Given the description of an element on the screen output the (x, y) to click on. 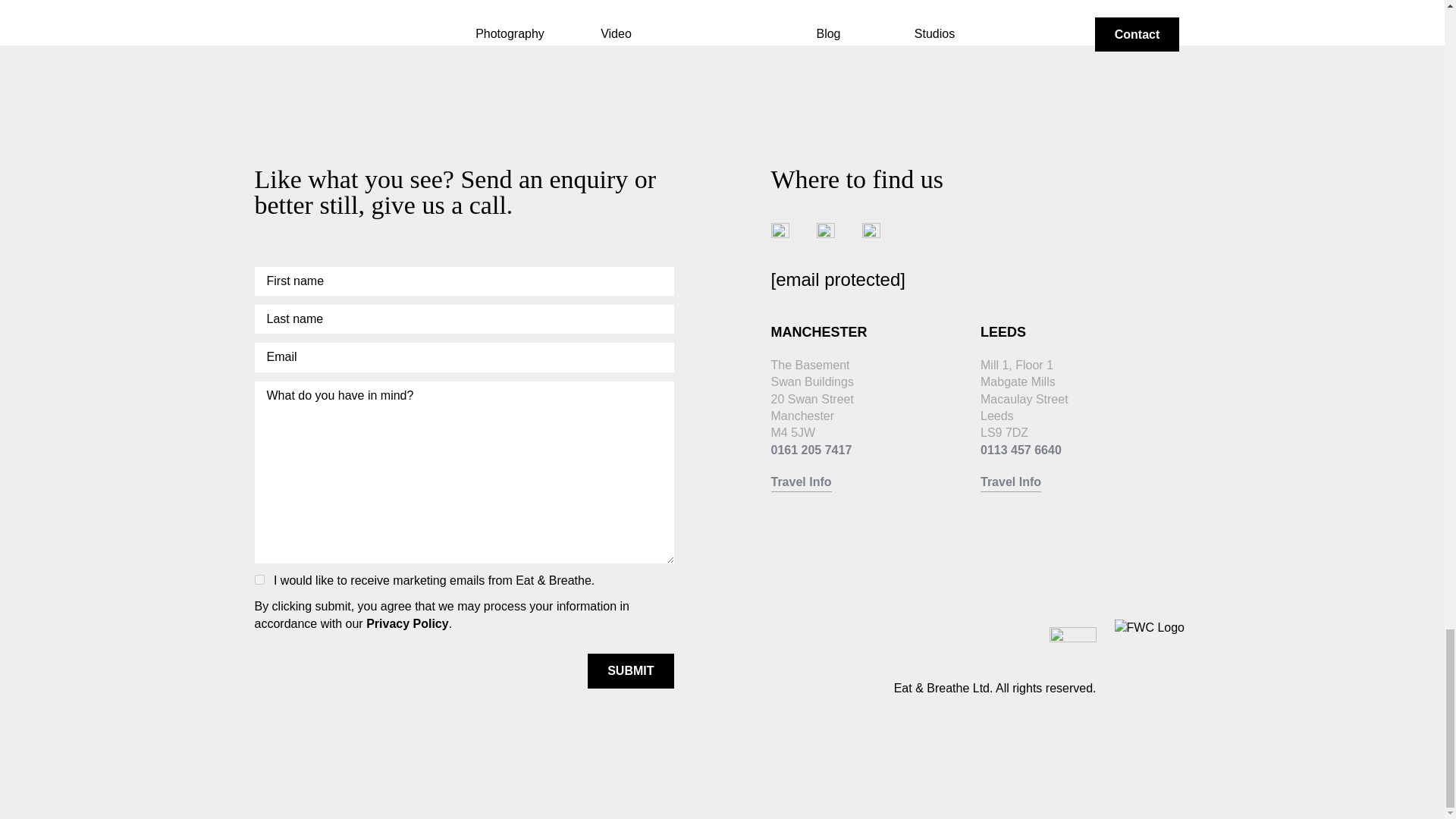
Privacy Policy (407, 623)
SUBMIT (630, 670)
0161 205 7417 (810, 449)
SUBMIT (630, 670)
